Given the description of an element on the screen output the (x, y) to click on. 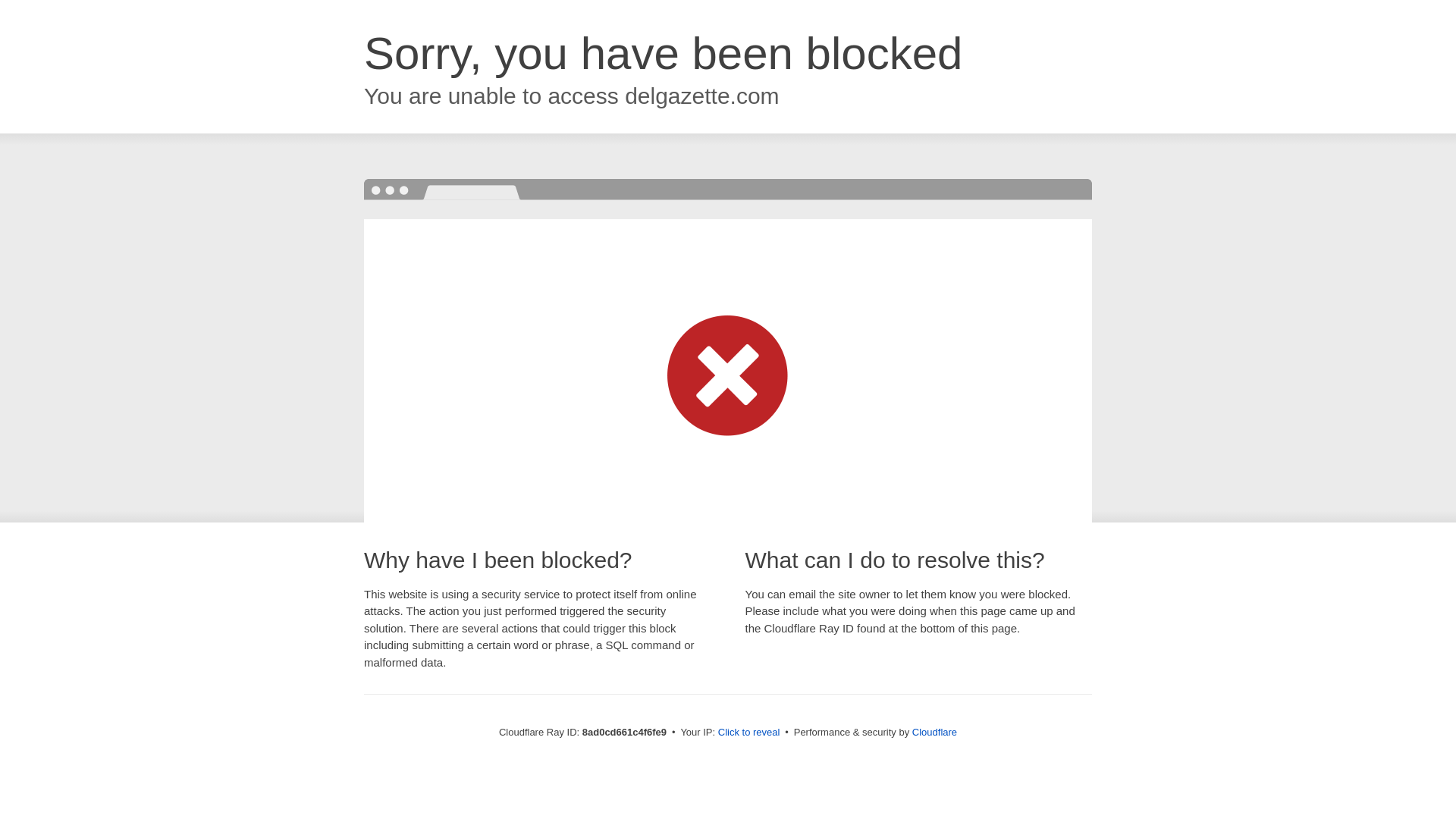
Cloudflare (934, 731)
Click to reveal (748, 732)
